Given the description of an element on the screen output the (x, y) to click on. 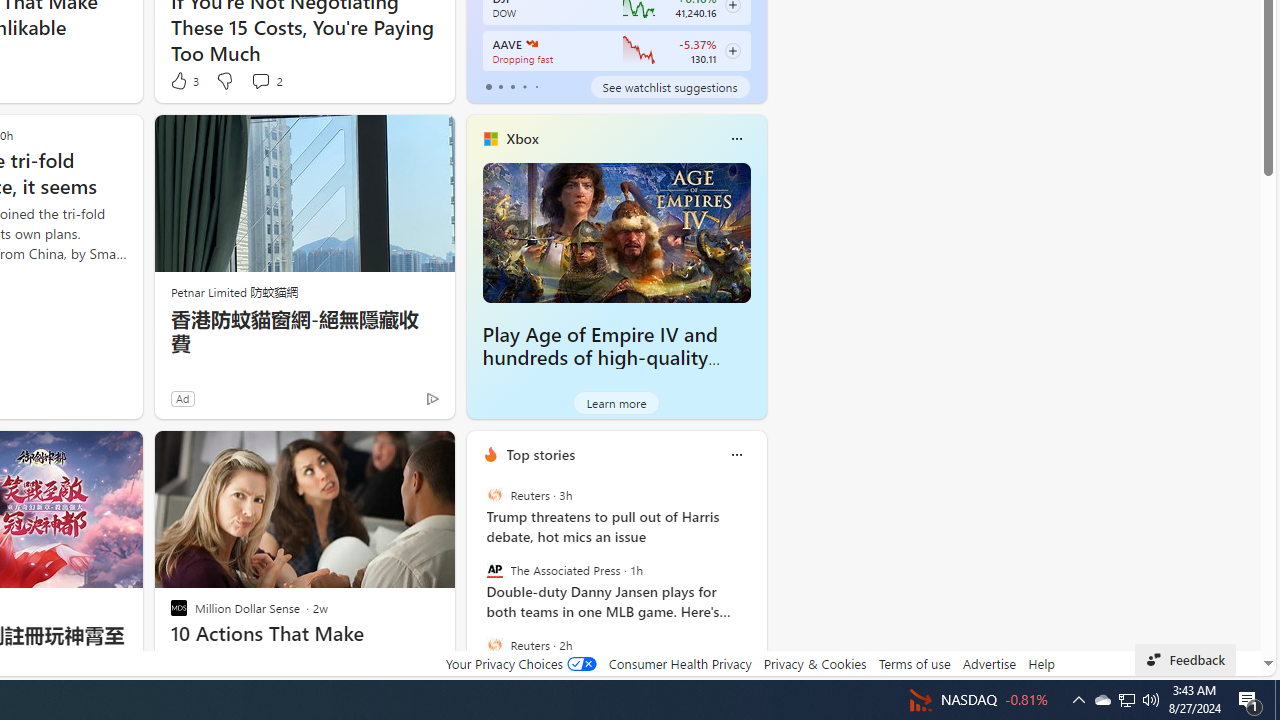
next (756, 583)
Learn more (616, 402)
Your Privacy Choices (520, 663)
Hide this story (393, 454)
